Given the description of an element on the screen output the (x, y) to click on. 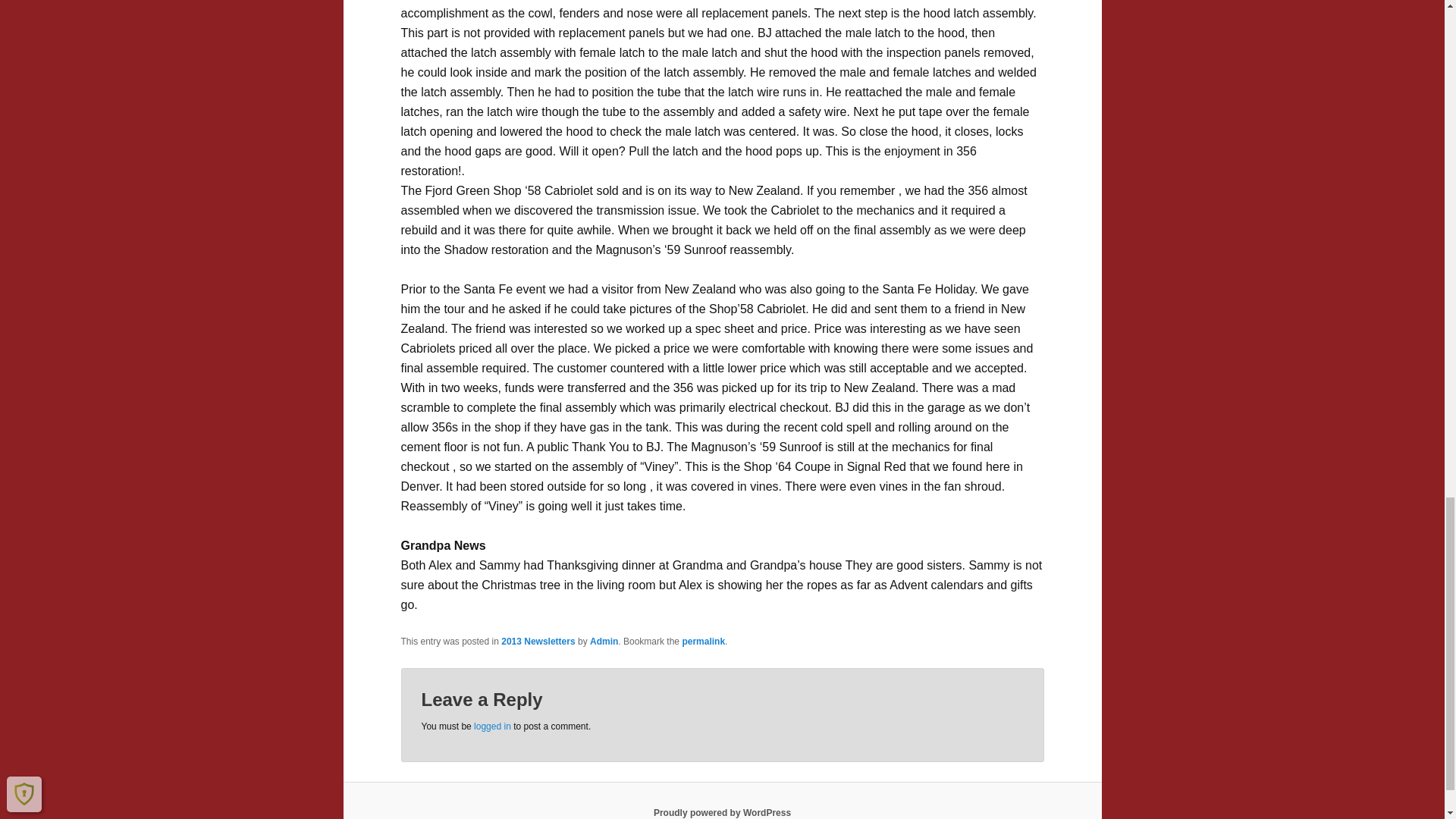
Permalink to December 2013 Newsletter (703, 641)
Semantic Personal Publishing Platform (721, 812)
